Given the description of an element on the screen output the (x, y) to click on. 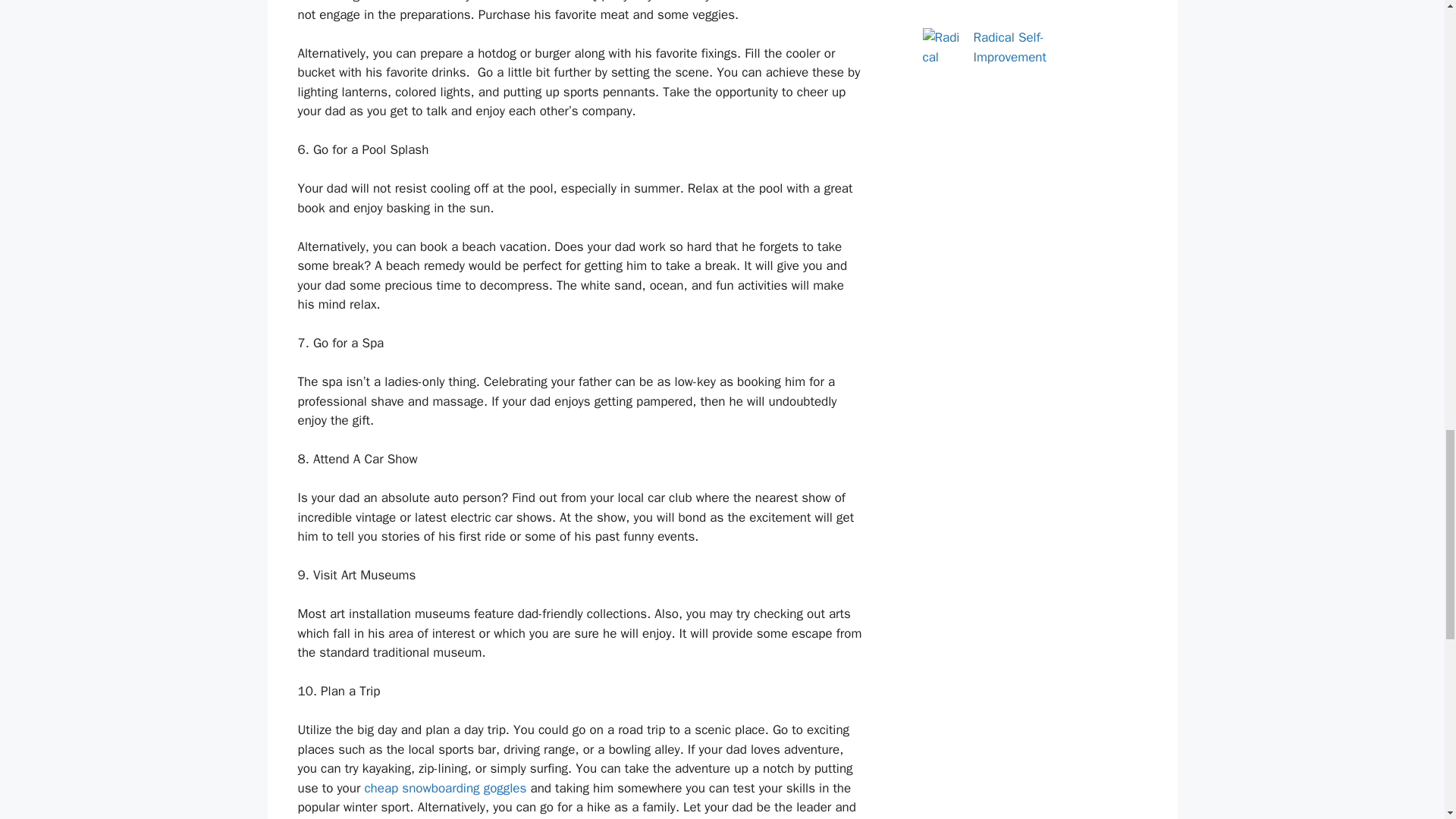
cheap snowboarding goggles (444, 788)
